Given the description of an element on the screen output the (x, y) to click on. 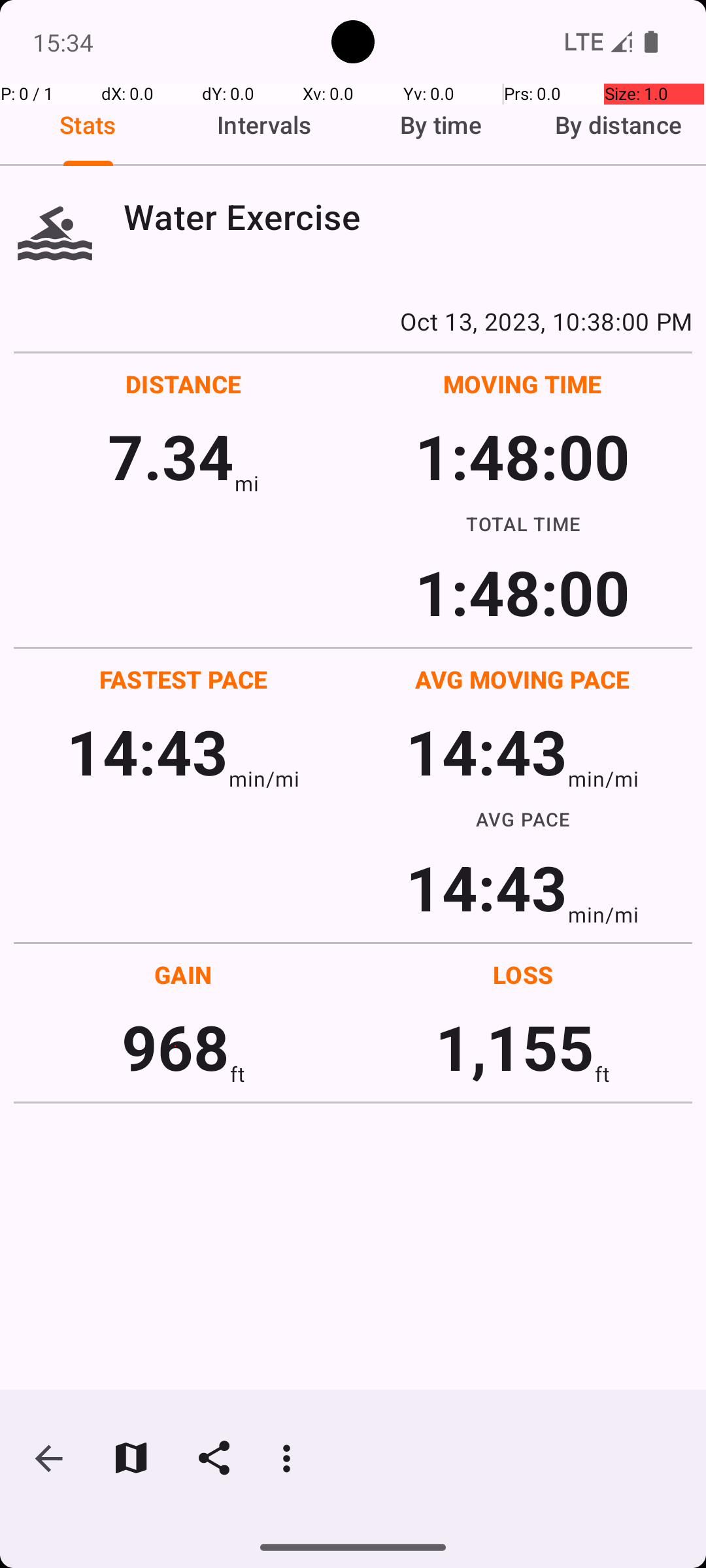
Water Exercise Element type: android.widget.TextView (407, 216)
Oct 13, 2023, 10:38:00 PM Element type: android.widget.TextView (352, 320)
DISTANCE Element type: android.widget.TextView (183, 383)
MOVING TIME Element type: android.widget.TextView (522, 383)
7.34 Element type: android.widget.TextView (170, 455)
mi Element type: android.widget.TextView (246, 483)
1:48:00 Element type: android.widget.TextView (522, 455)
TOTAL TIME Element type: android.widget.TextView (522, 523)
FASTEST PACE Element type: android.widget.TextView (183, 678)
AVG MOVING PACE Element type: android.widget.TextView (522, 678)
14:43 Element type: android.widget.TextView (147, 750)
min/mi Element type: android.widget.TextView (264, 778)
AVG PACE Element type: android.widget.TextView (522, 818)
GAIN Element type: android.widget.TextView (183, 974)
LOSS Element type: android.widget.TextView (522, 974)
968 Element type: android.widget.TextView (175, 1045)
ft Element type: android.widget.TextView (237, 1073)
1,155 Element type: android.widget.TextView (514, 1045)
